Given the description of an element on the screen output the (x, y) to click on. 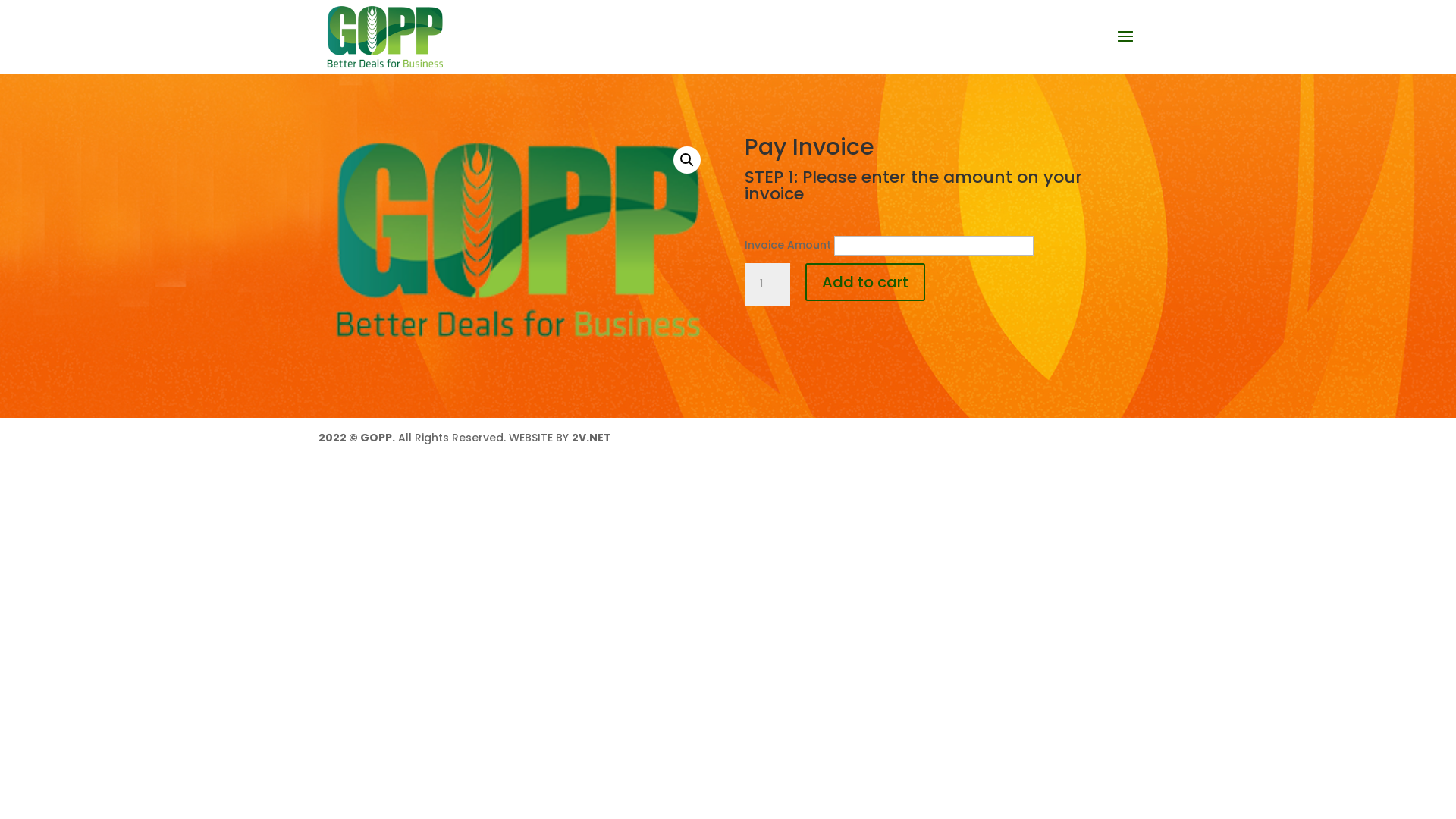
Add to cart Element type: text (865, 282)
2V.NET Element type: text (591, 437)
GOPP-Members-deal Element type: hover (514, 240)
